Given the description of an element on the screen output the (x, y) to click on. 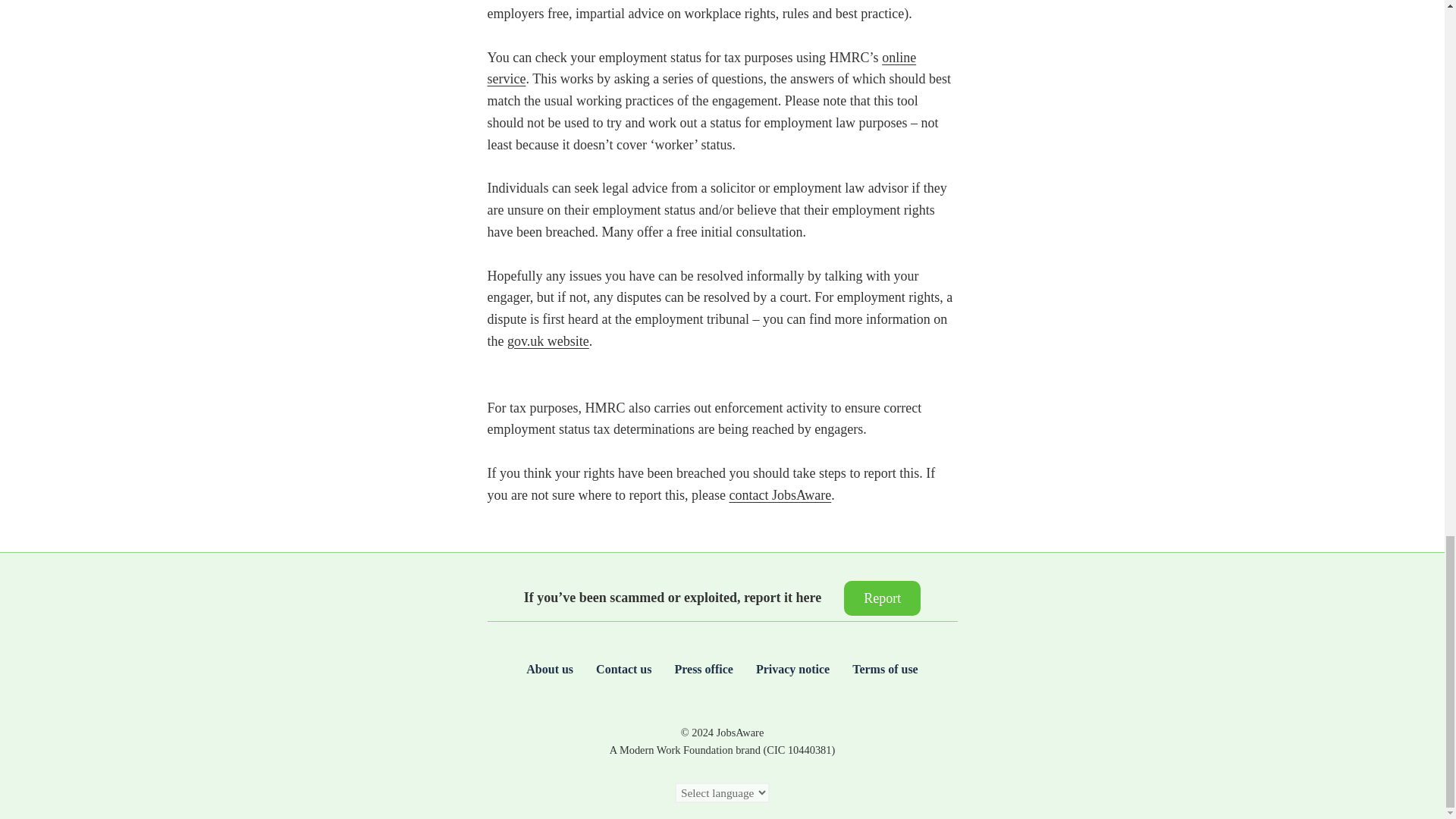
Terms of use (884, 669)
Press office (703, 669)
contact JobsAware (780, 494)
online service (700, 67)
Contact us (622, 669)
Privacy notice (792, 669)
Report (882, 597)
About us (549, 669)
gov.uk website (547, 340)
